Given the description of an element on the screen output the (x, y) to click on. 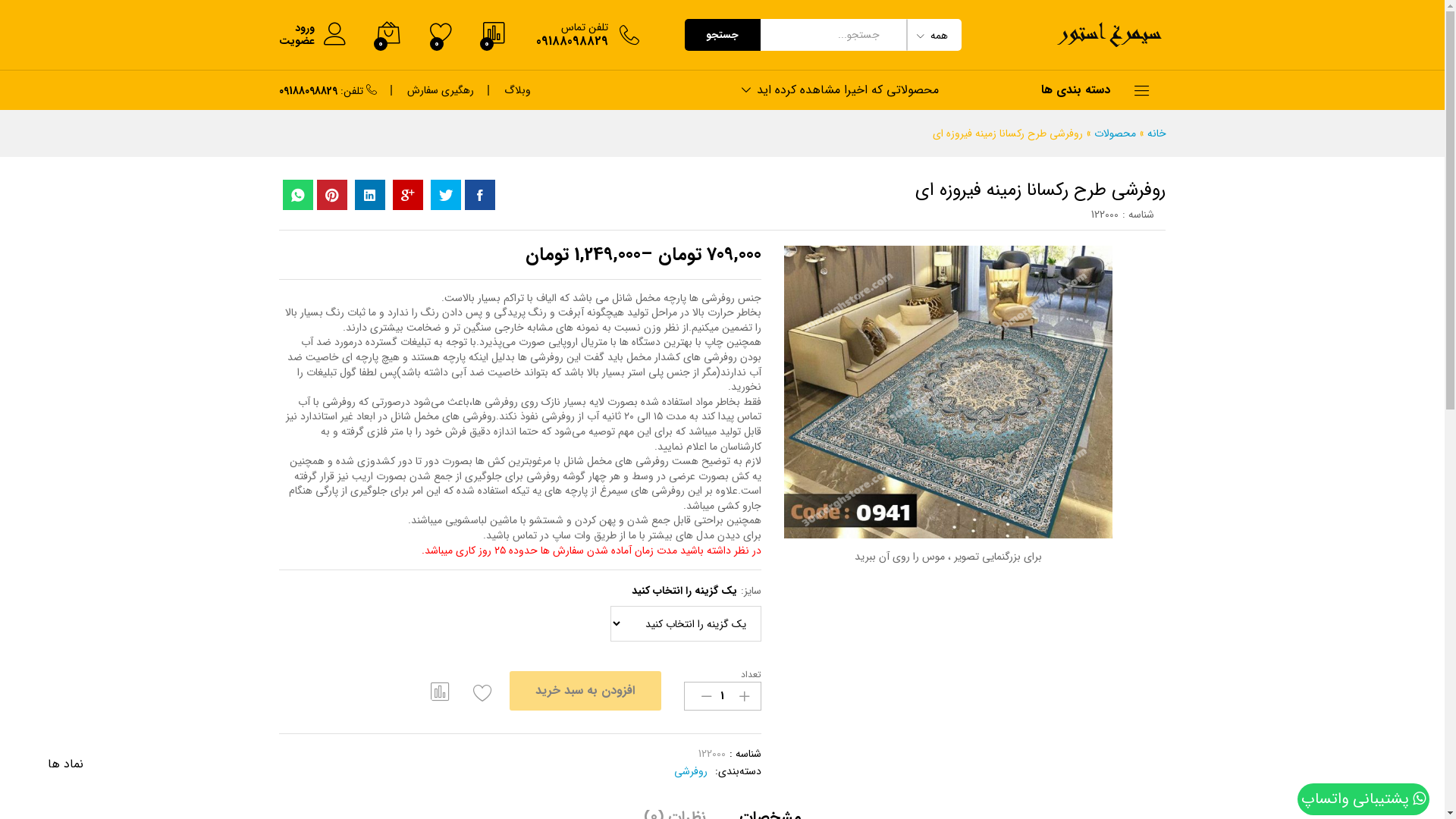
0 Element type: text (493, 34)
0 Element type: text (440, 34)
0 Element type: text (387, 34)
